Given the description of an element on the screen output the (x, y) to click on. 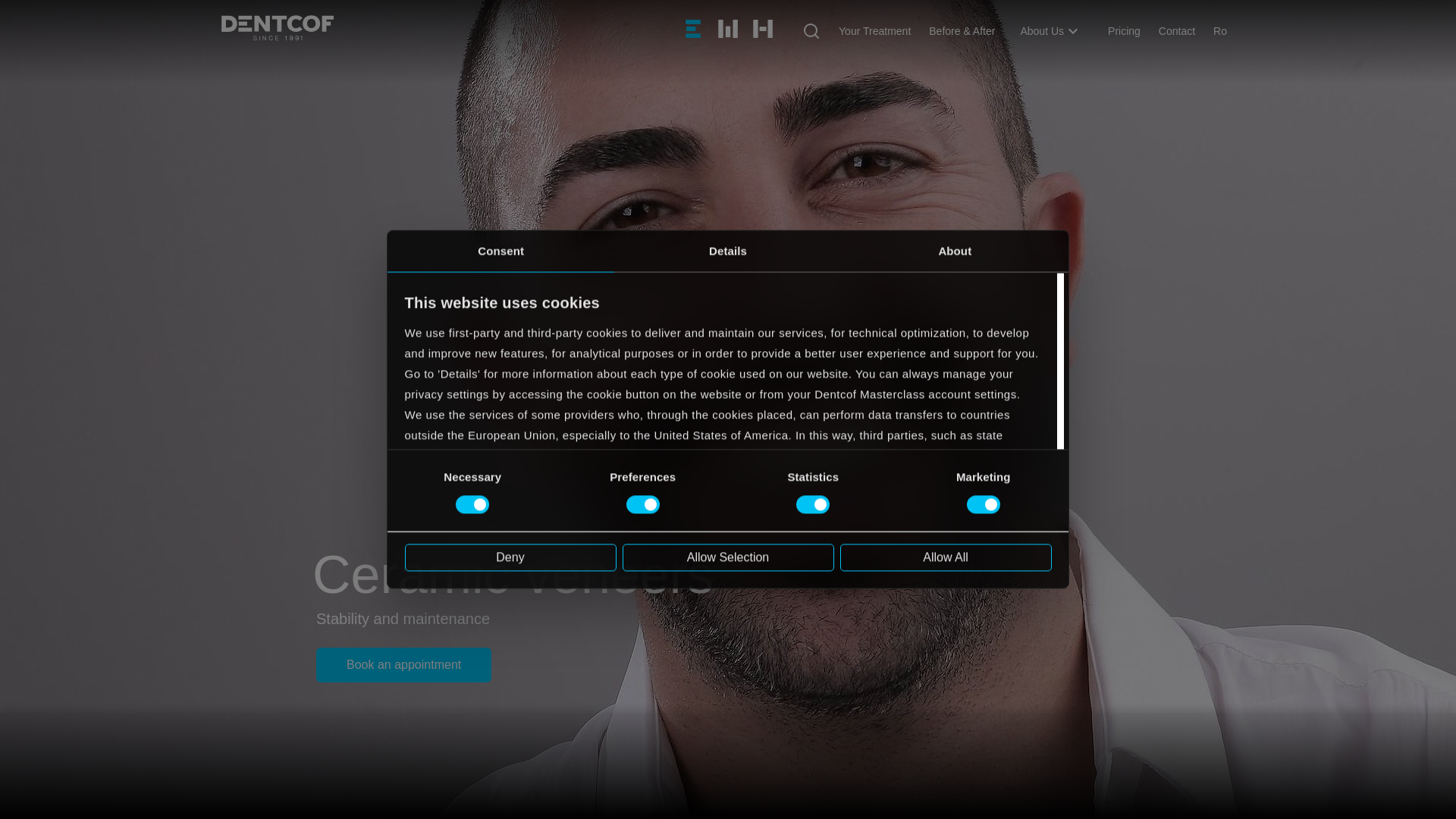
About (954, 250)
Details (727, 250)
Allow Selection (726, 556)
Allow All (945, 556)
Cookie Policy (441, 536)
Deny (509, 556)
Consent (500, 250)
